Given the description of an element on the screen output the (x, y) to click on. 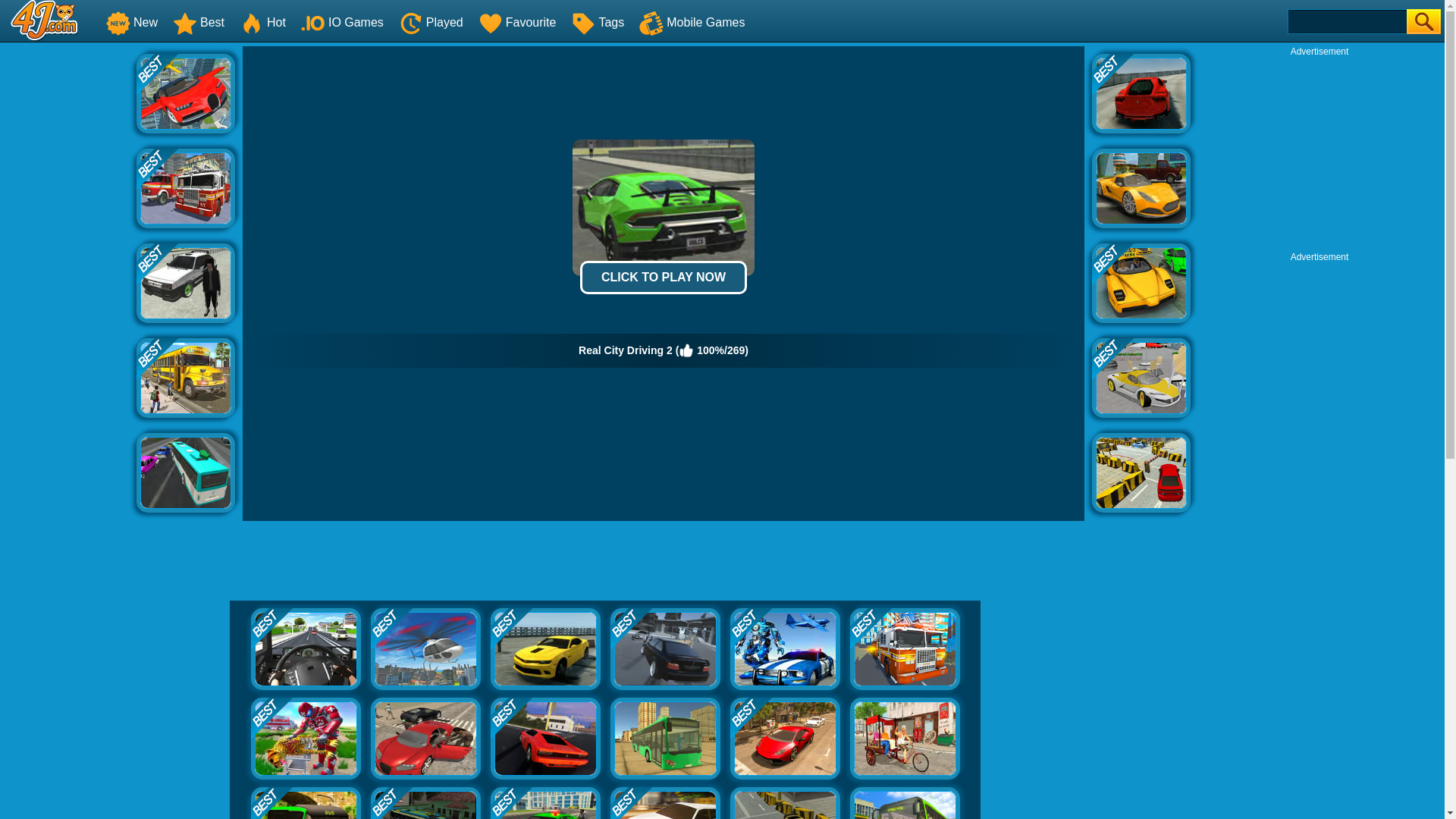
Advertisement (603, 562)
Favourite (517, 21)
Advertisement (1318, 152)
Tags (597, 21)
New (131, 21)
CLICK TO PLAY NOW (662, 277)
Hot (262, 21)
IO Games (342, 21)
Best (198, 21)
